Given the description of an element on the screen output the (x, y) to click on. 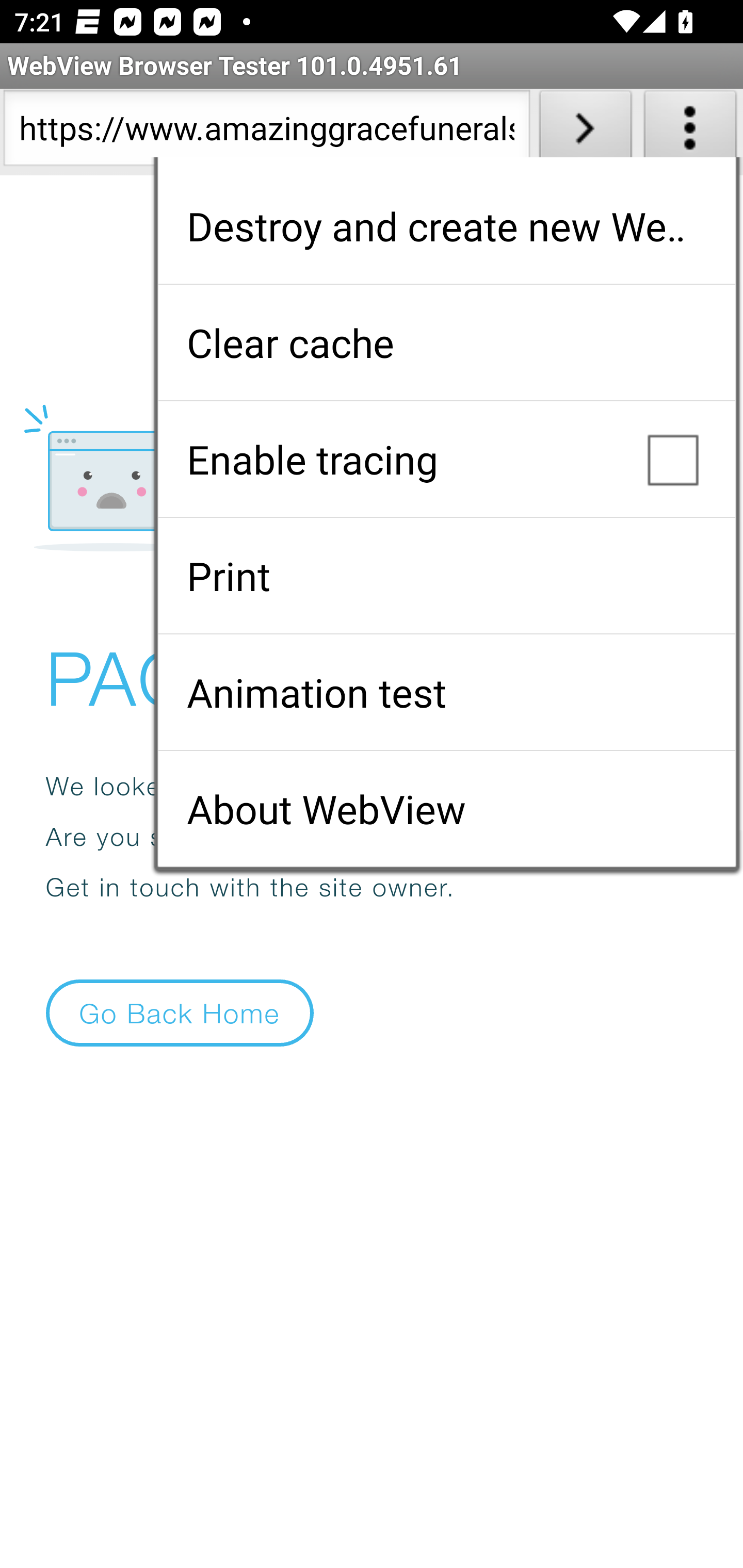
Destroy and create new WebView (446, 225)
Clear cache (446, 342)
Enable tracing (446, 459)
Print (446, 575)
Animation test (446, 692)
About WebView (446, 809)
